Given the description of an element on the screen output the (x, y) to click on. 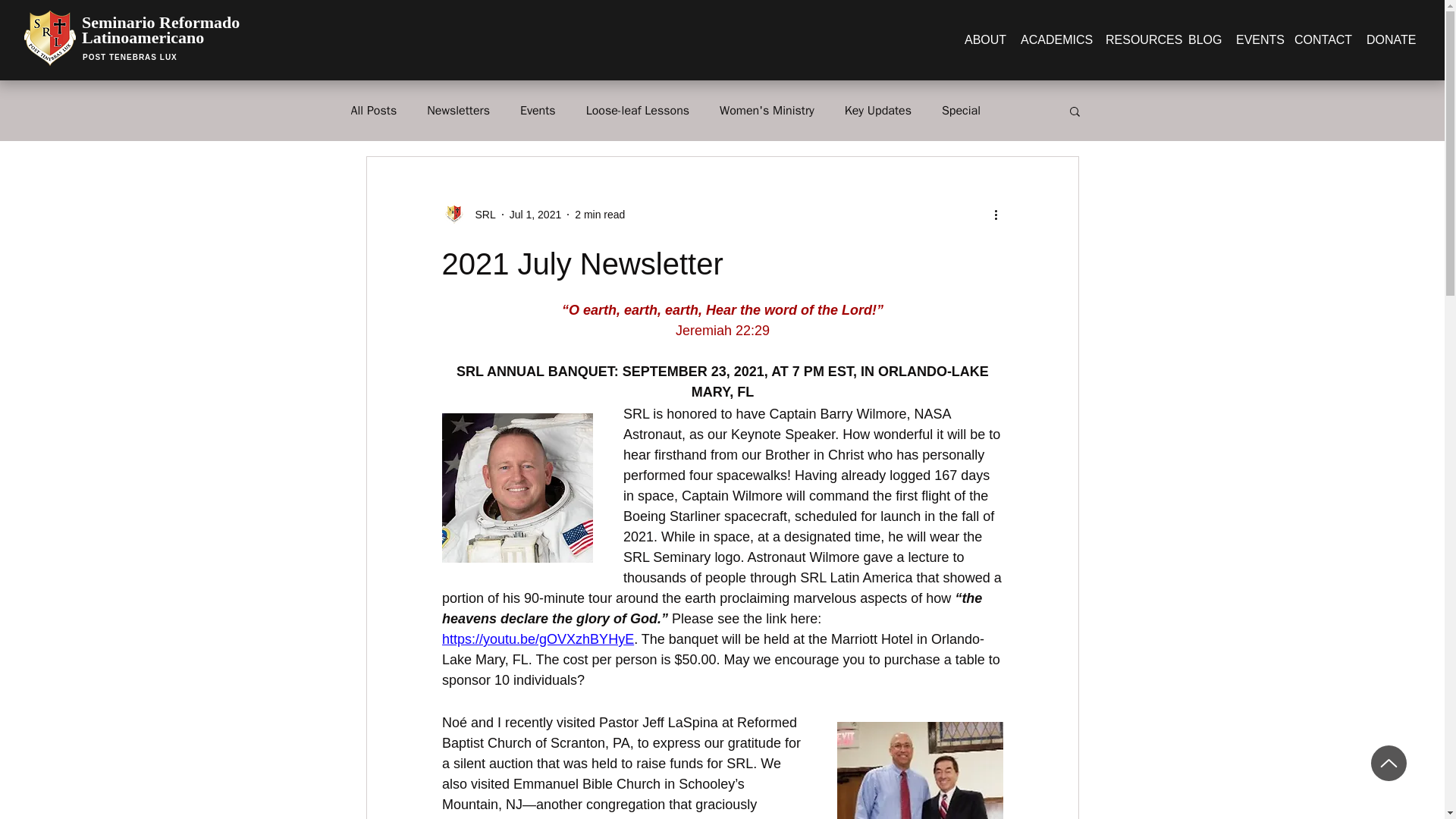
DONATE (1390, 39)
SRL (480, 213)
Events (537, 110)
EVENTS (1257, 39)
Loose-leaf Lessons (637, 110)
Jul 1, 2021 (535, 214)
SRL (468, 214)
All Posts (373, 110)
Special (960, 110)
Newsletters (457, 110)
BLOG (1204, 39)
Women's Ministry (766, 110)
ABOUT (984, 39)
CONTACT (1322, 39)
ACADEMICS (1055, 39)
